Given the description of an element on the screen output the (x, y) to click on. 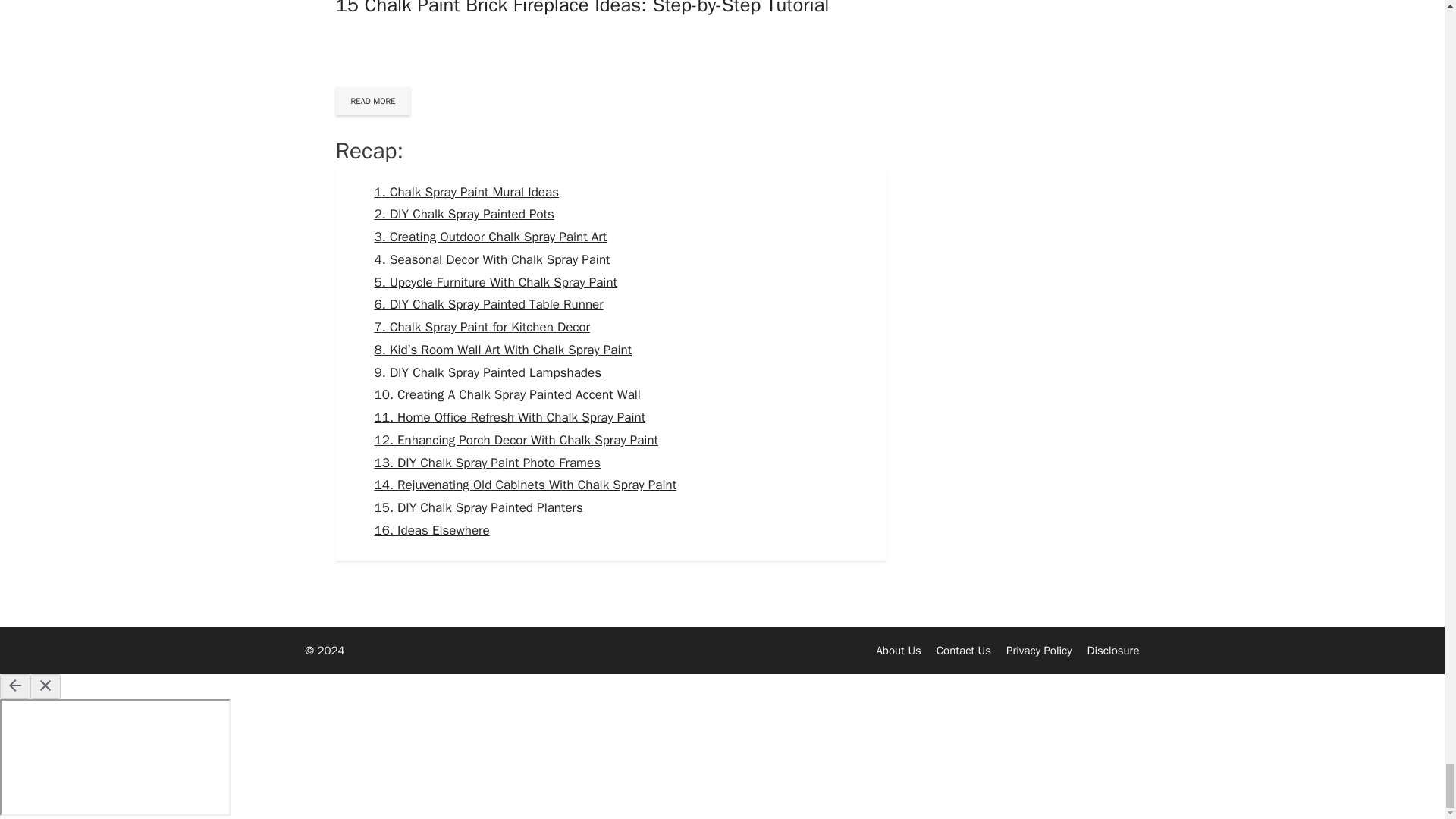
15 Chalk Paint Brick Fireplace Ideas: Step-by-Step Tutorial (581, 8)
